Given the description of an element on the screen output the (x, y) to click on. 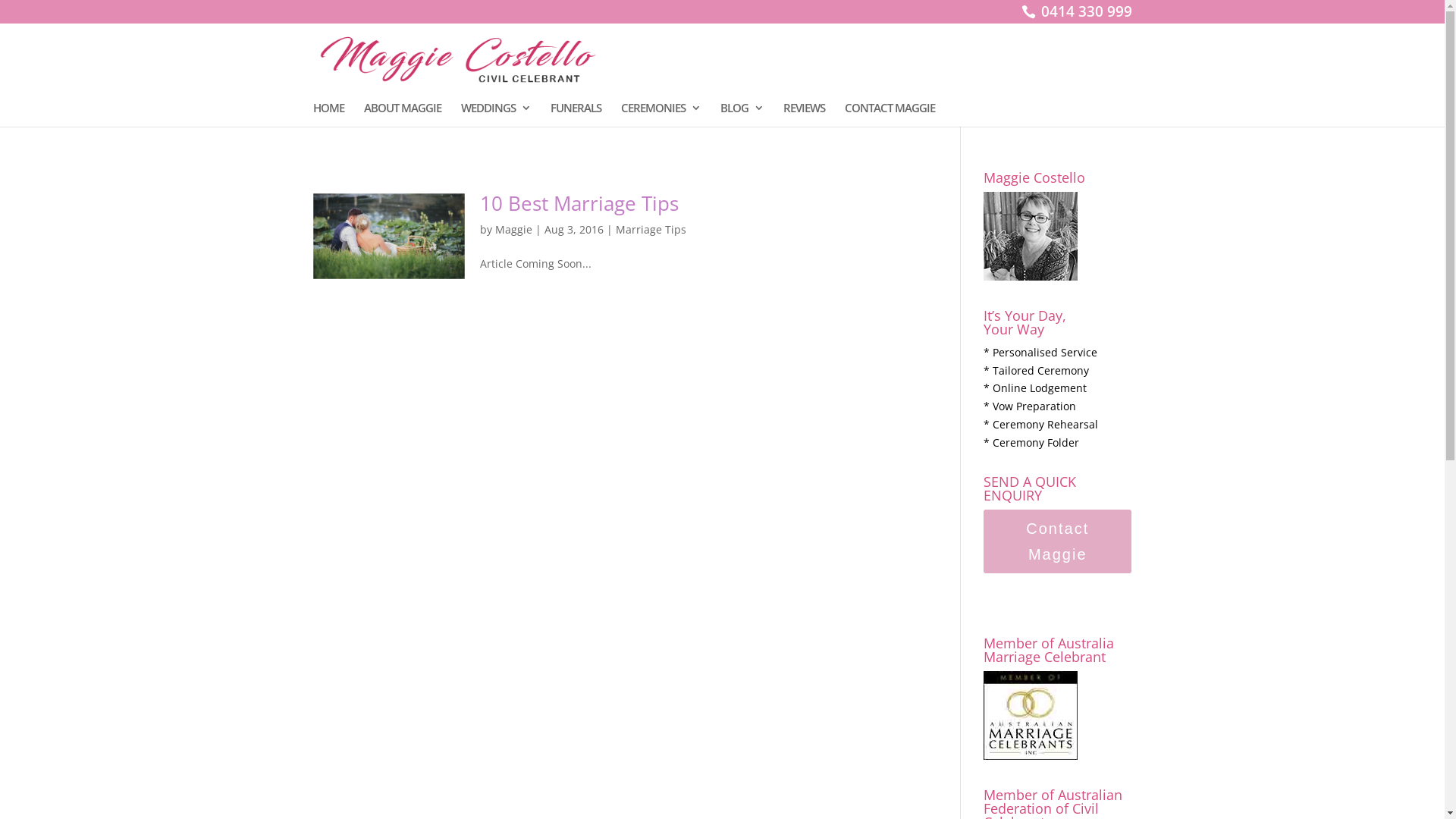
REVIEWS Element type: text (803, 114)
CEREMONIES Element type: text (659, 114)
WEDDINGS Element type: text (495, 114)
Marriage Tips Element type: text (650, 229)
ABOUT MAGGIE Element type: text (402, 114)
10 Best Marriage Tips Element type: text (578, 202)
Contact Maggie Element type: text (1057, 541)
FUNERALS Element type: text (575, 114)
HOME Element type: text (327, 114)
CONTACT MAGGIE Element type: text (889, 114)
BLOG Element type: text (741, 114)
Maggie Element type: text (512, 229)
